Given the description of an element on the screen output the (x, y) to click on. 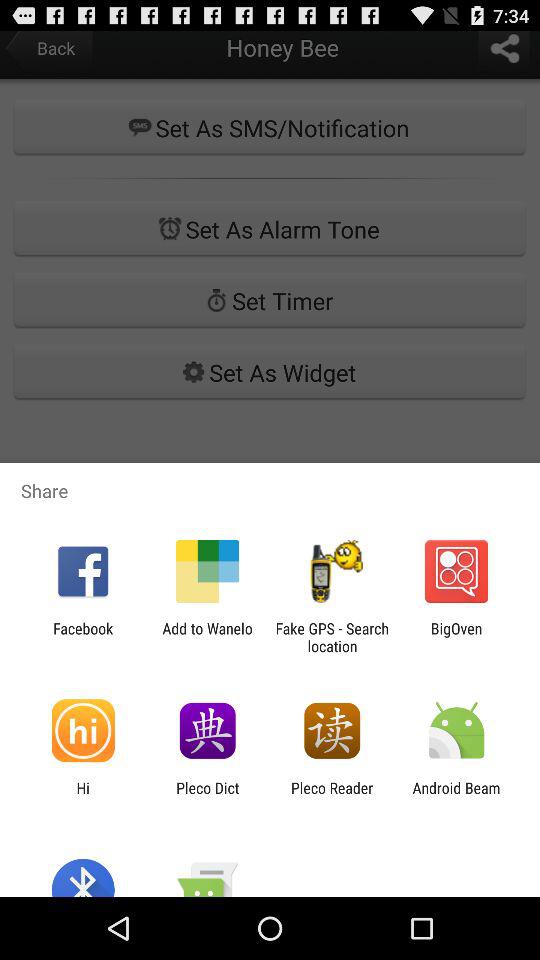
turn on icon to the left of the bigoven app (332, 637)
